Given the description of an element on the screen output the (x, y) to click on. 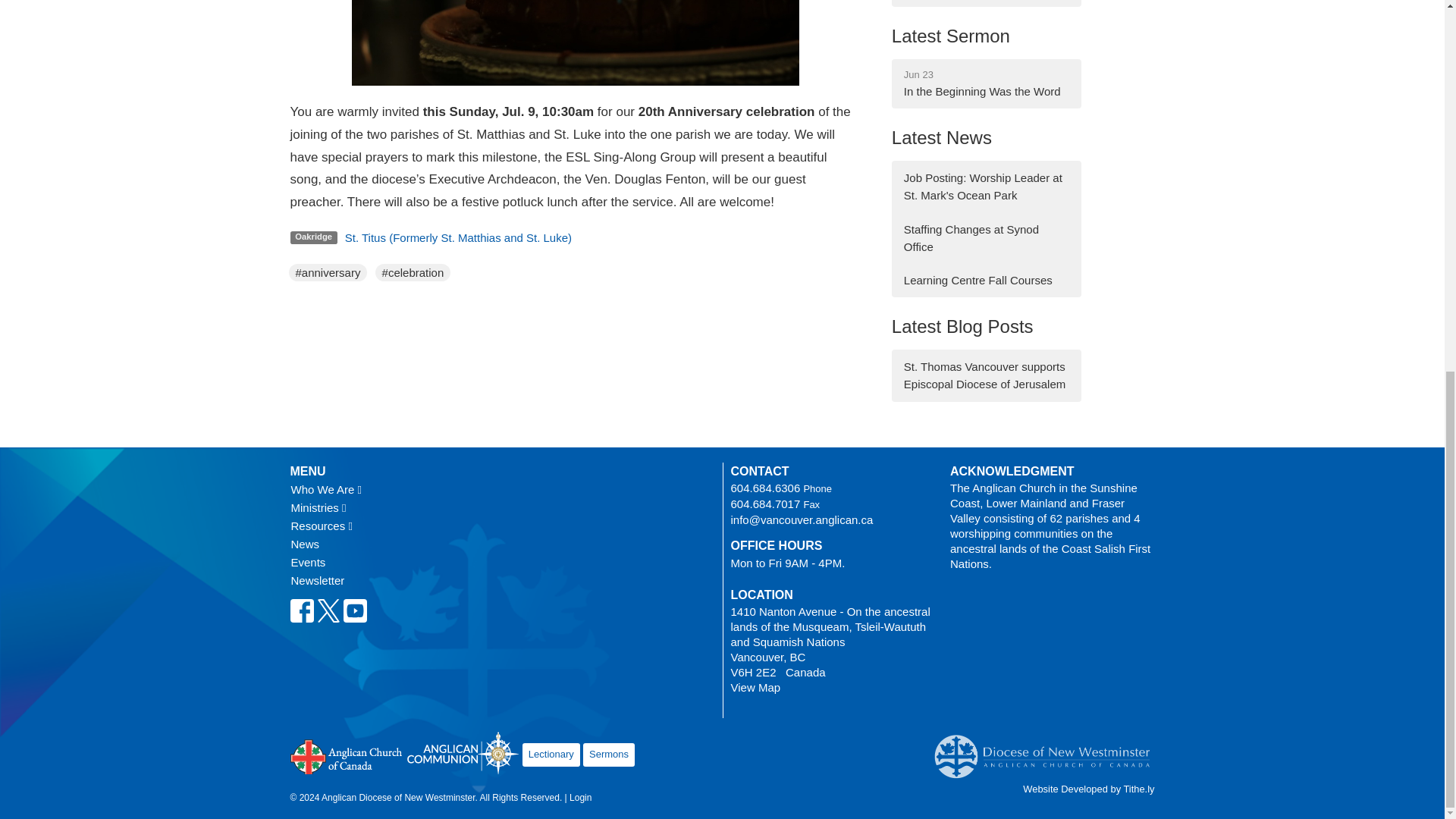
Youtube Icon (354, 610)
Facebook Icon (301, 610)
Twitter Icon (328, 610)
